Given the description of an element on the screen output the (x, y) to click on. 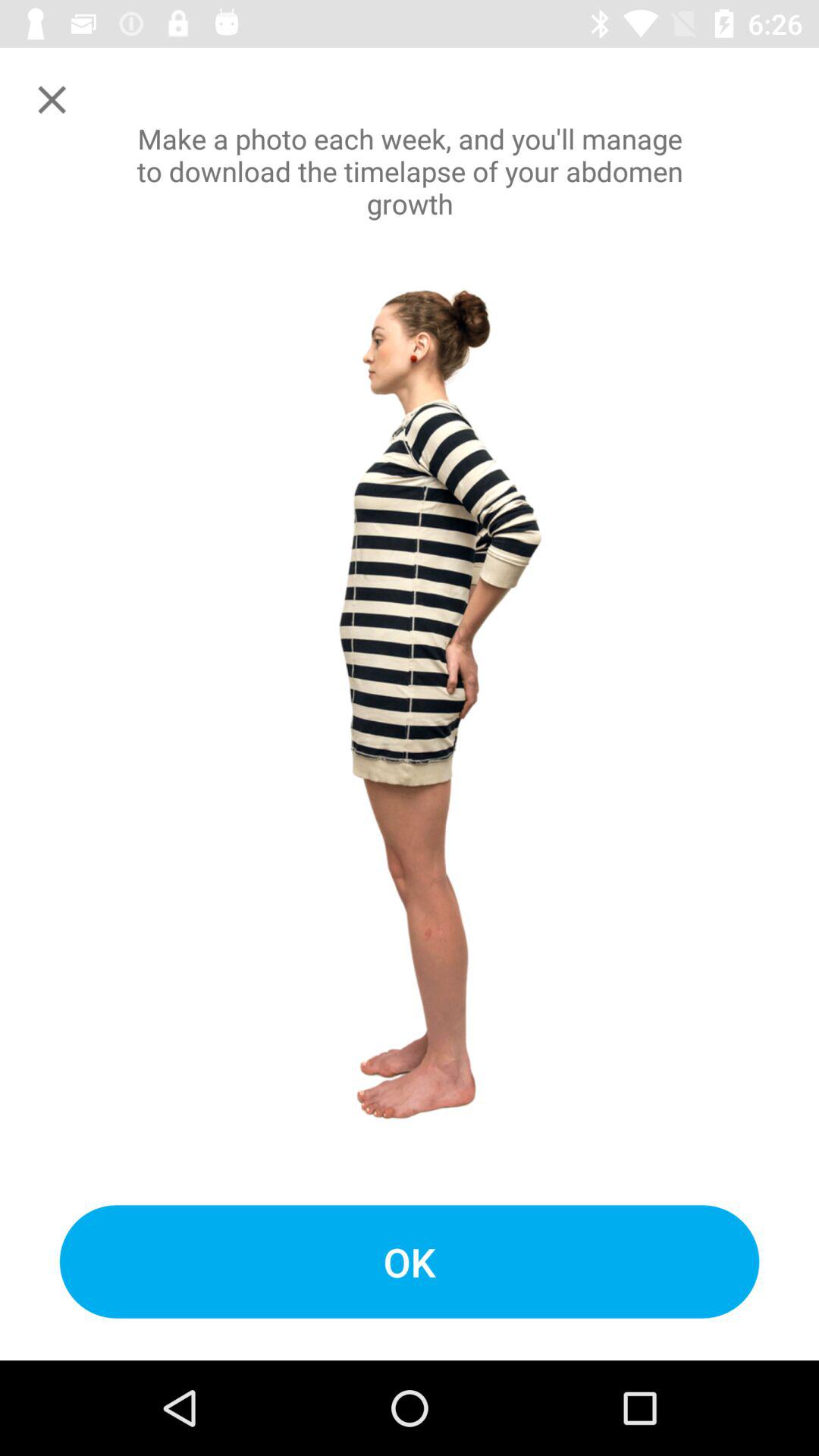
close (51, 99)
